Given the description of an element on the screen output the (x, y) to click on. 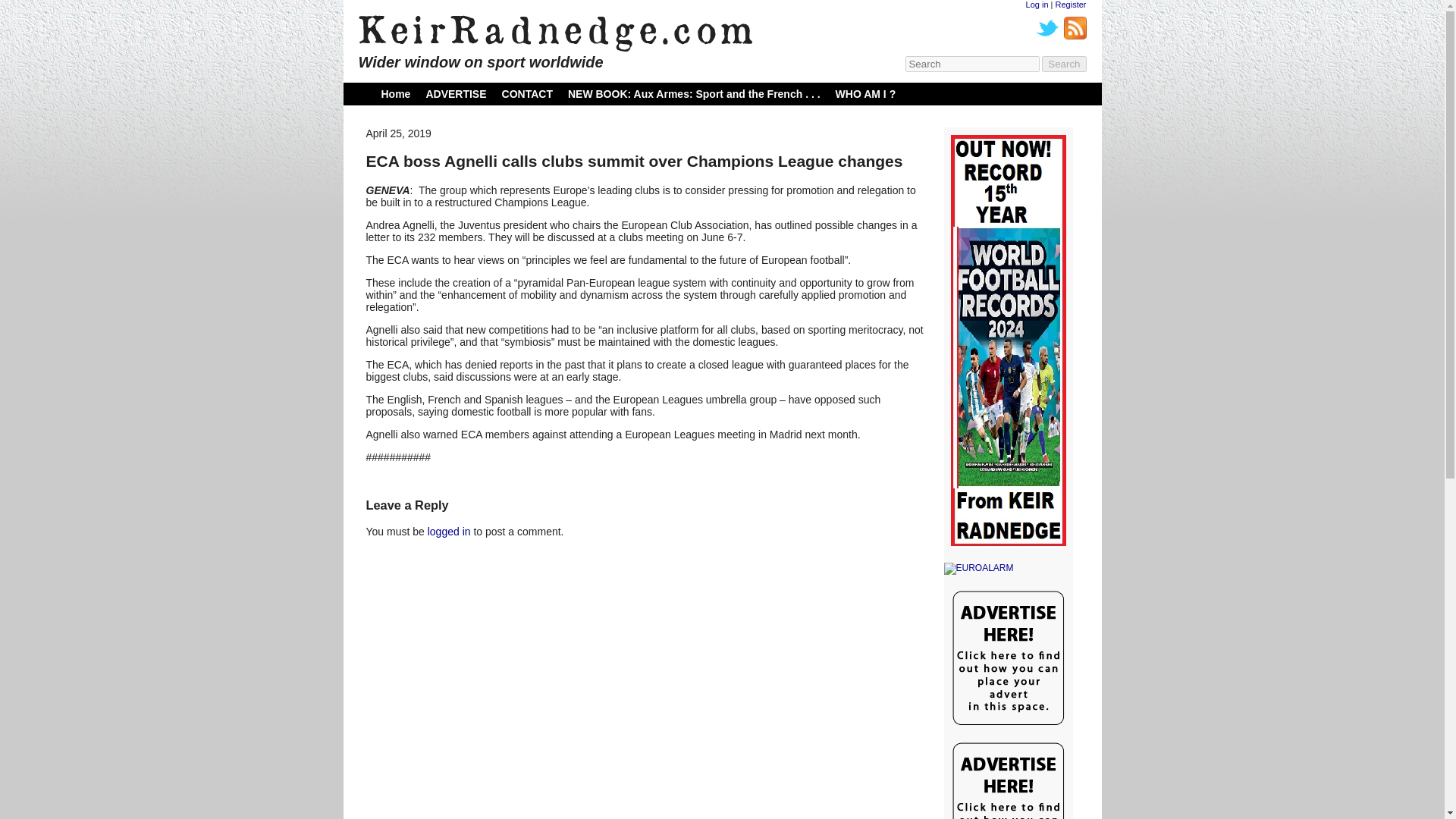
ADVERTISE (455, 93)
CONTACT (527, 93)
WHO AM I ? (865, 93)
Search (1064, 64)
Log in (1037, 4)
NEW BOOK: Aux Armes: Sport and the French . . . (694, 93)
EUROALARM (1007, 568)
Home (395, 93)
logged in (449, 531)
Search (1064, 64)
Register (1070, 4)
